Given the description of an element on the screen output the (x, y) to click on. 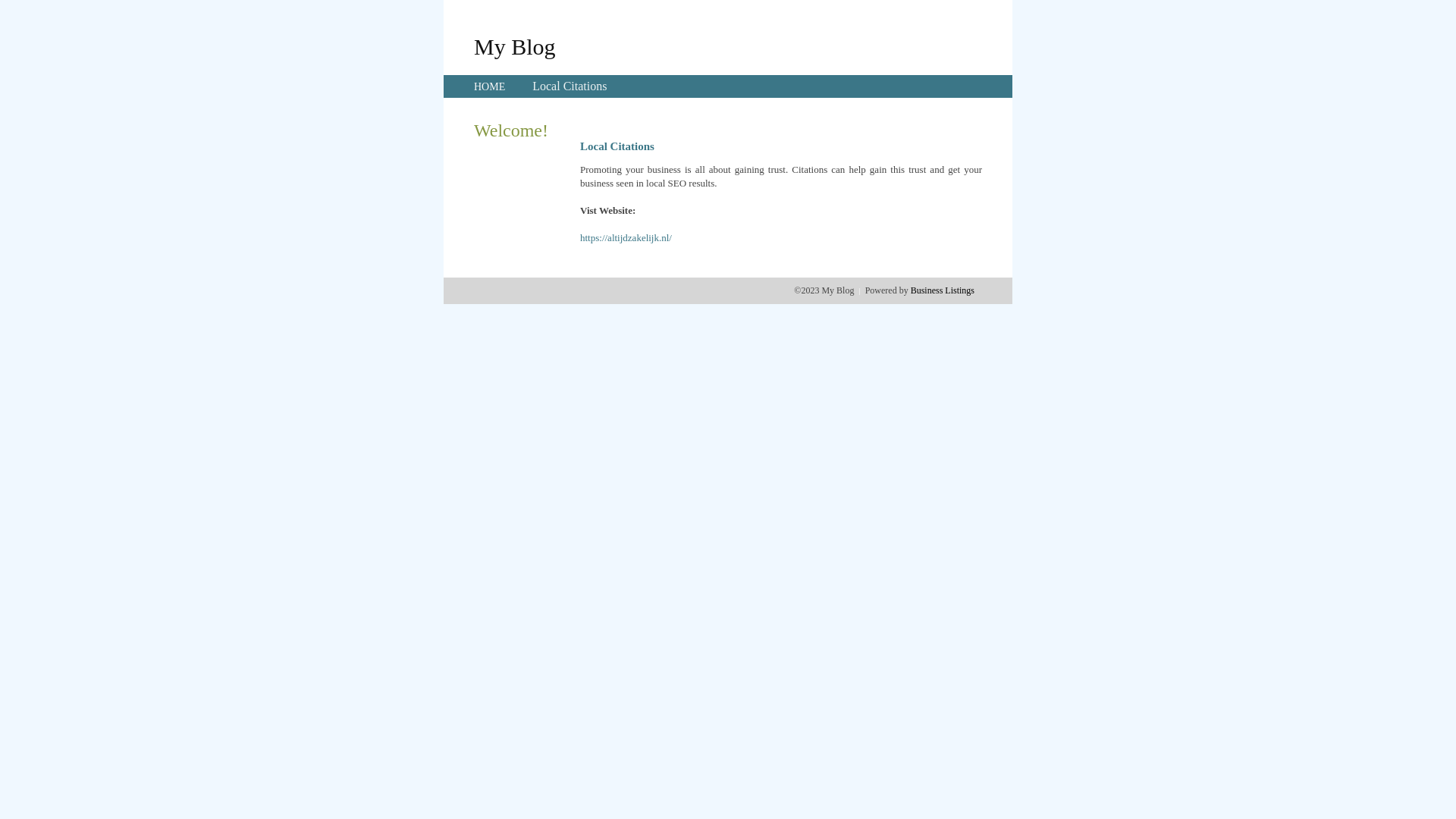
My Blog Element type: text (514, 46)
Local Citations Element type: text (569, 85)
https://altijdzakelijk.nl/ Element type: text (625, 237)
Business Listings Element type: text (942, 290)
HOME Element type: text (489, 86)
